Given the description of an element on the screen output the (x, y) to click on. 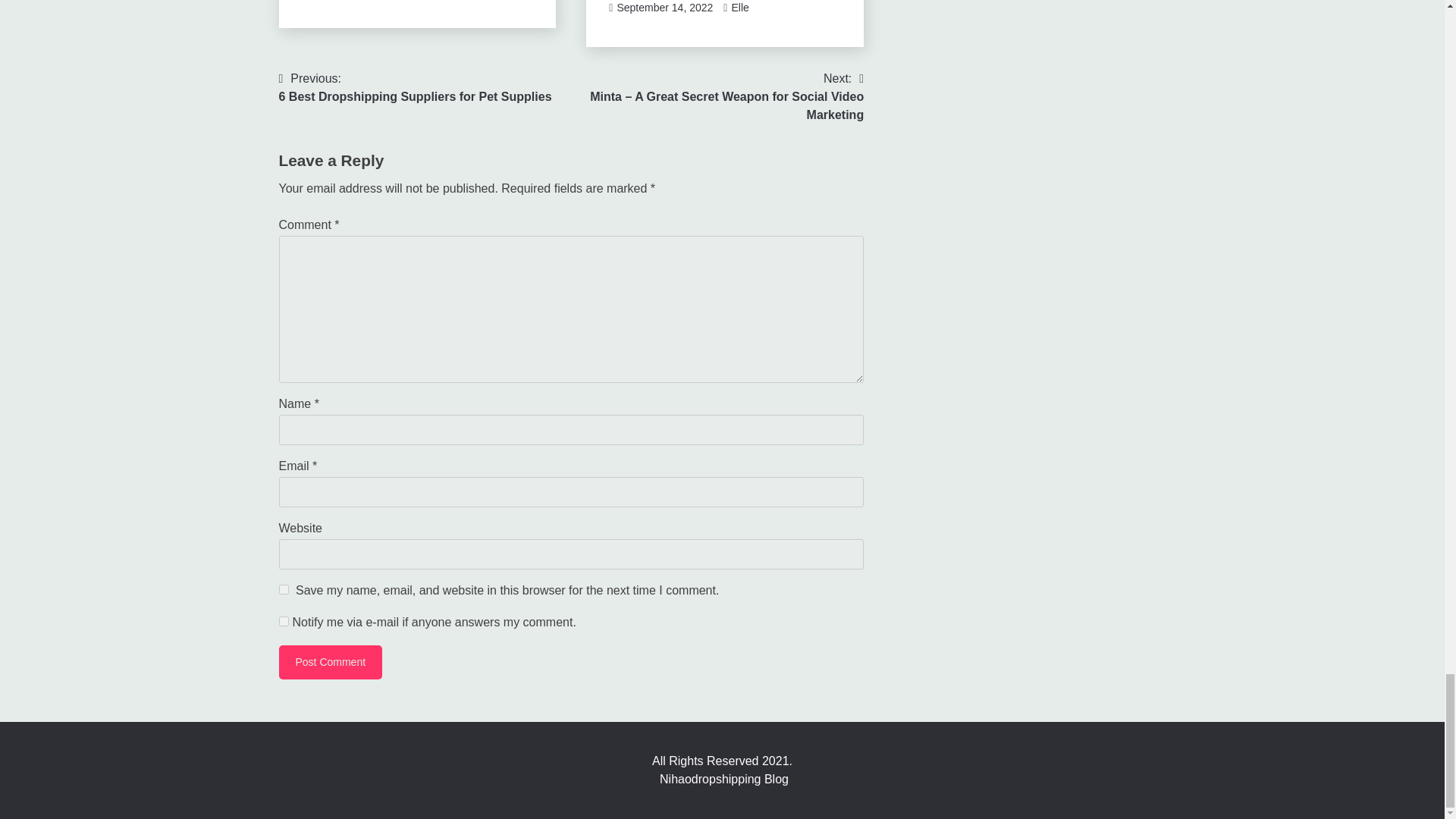
yes (283, 589)
on (283, 621)
Post Comment (330, 662)
